Given the description of an element on the screen output the (x, y) to click on. 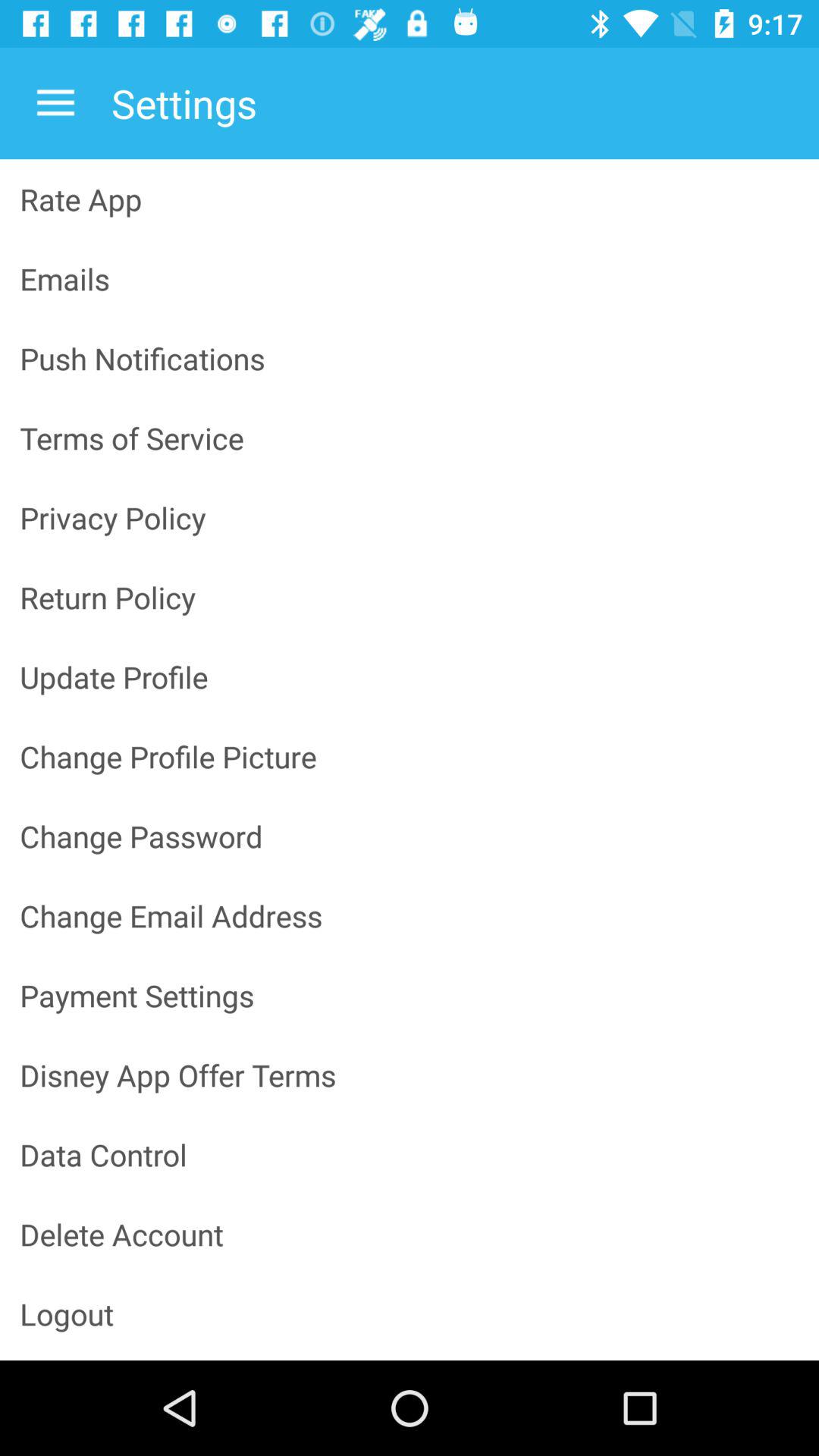
turn on icon above the logout item (409, 1234)
